Given the description of an element on the screen output the (x, y) to click on. 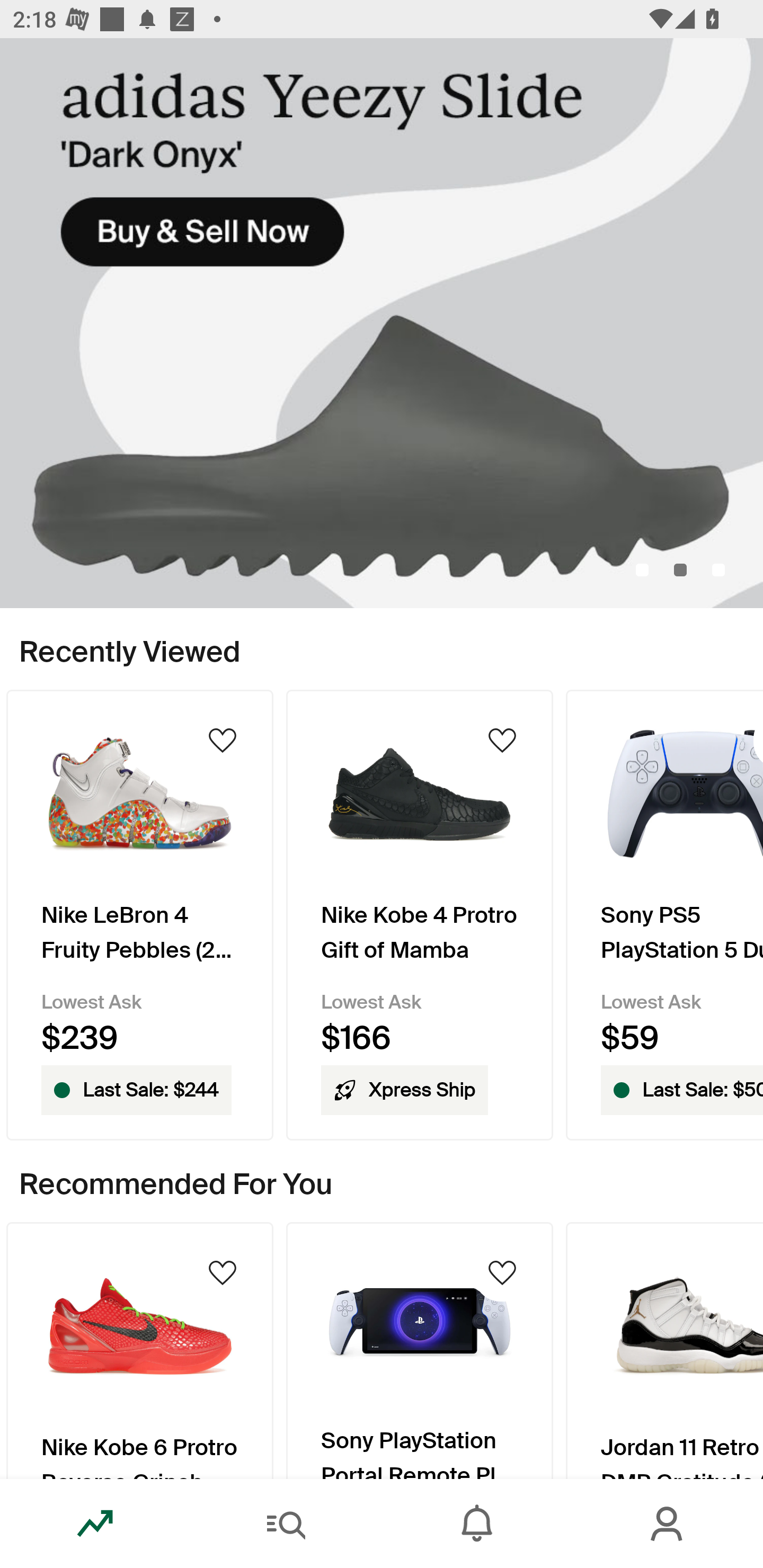
Product Image Nike Kobe 6 Protro Reverse Grinch (139, 1349)
Search (285, 1523)
Inbox (476, 1523)
Account (667, 1523)
